Given the description of an element on the screen output the (x, y) to click on. 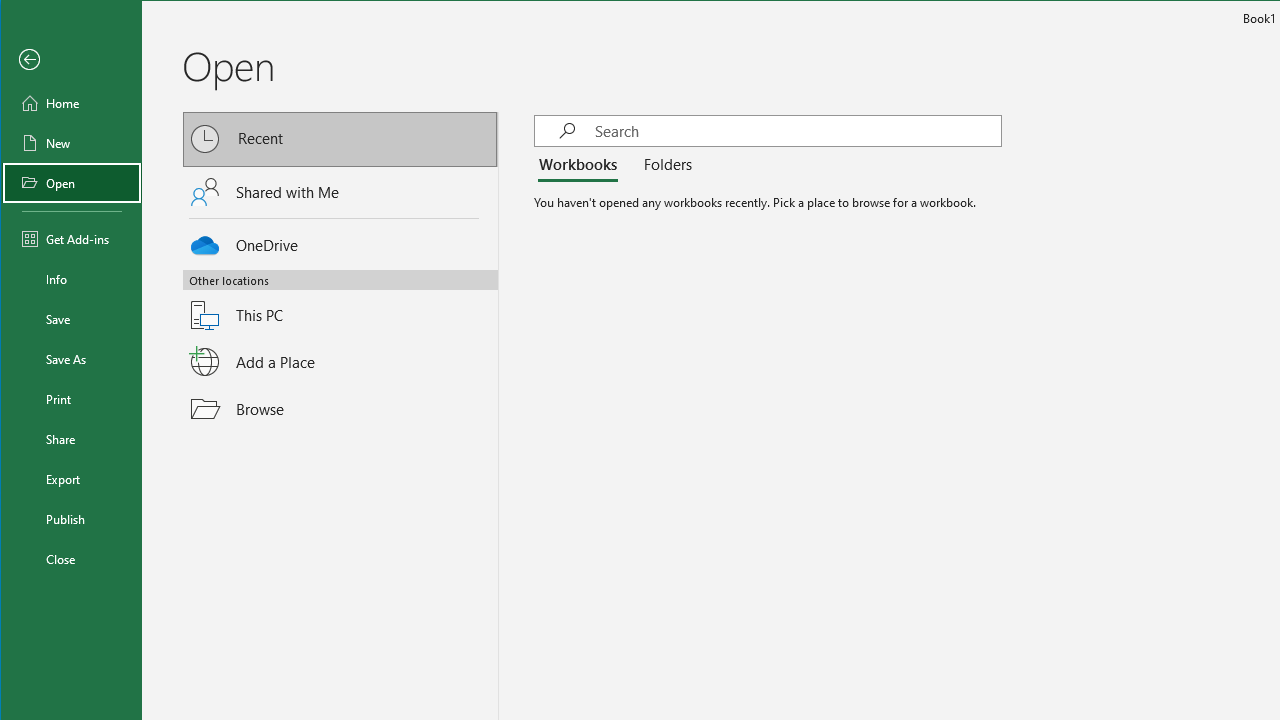
Back (72, 60)
Print (72, 398)
Save As (72, 358)
This PC (341, 303)
Recent (341, 139)
Folders (663, 165)
Shared with Me (341, 191)
New (72, 142)
OneDrive (341, 241)
